Given the description of an element on the screen output the (x, y) to click on. 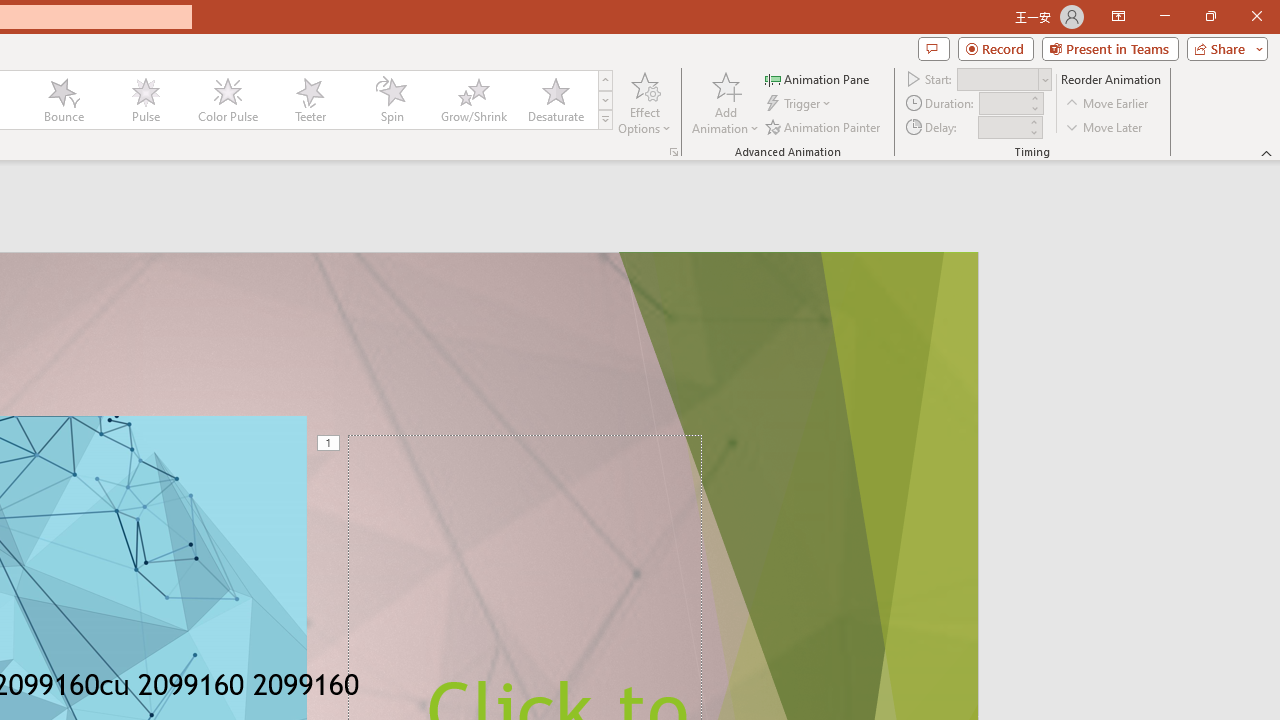
Desaturate (555, 100)
More Options... (673, 151)
More (1033, 121)
Animation Duration (1003, 103)
Move Earlier (1107, 103)
Animation Delay (1002, 127)
Animation Painter (824, 126)
Start (1004, 78)
Add Animation (725, 102)
Move Later (1105, 126)
